Given the description of an element on the screen output the (x, y) to click on. 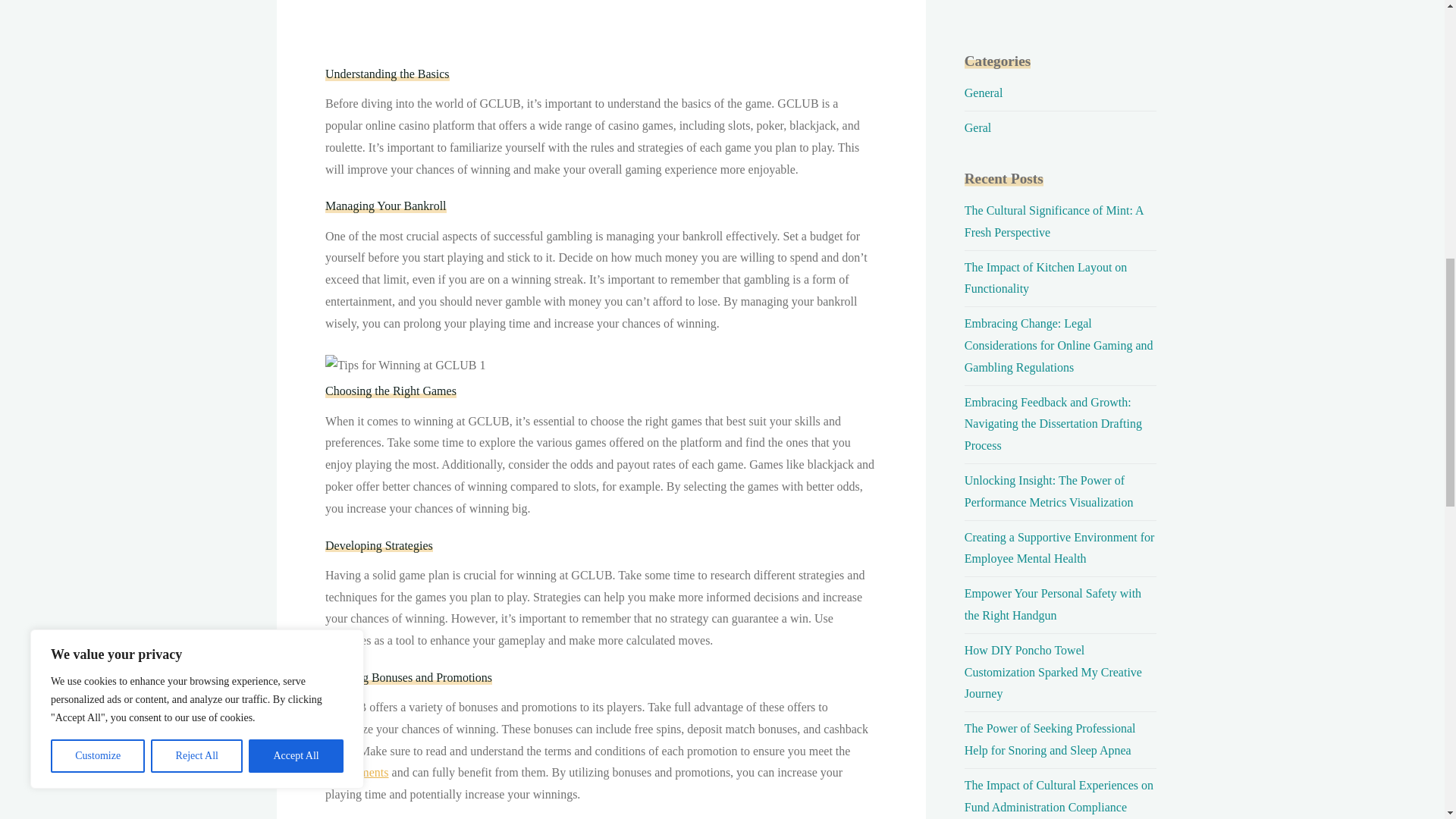
General (983, 92)
The Impact of Kitchen Layout on Functionality (1044, 278)
requirements (356, 771)
The Cultural Significance of Mint: A Fresh Perspective (1052, 221)
Geral (977, 127)
